Given the description of an element on the screen output the (x, y) to click on. 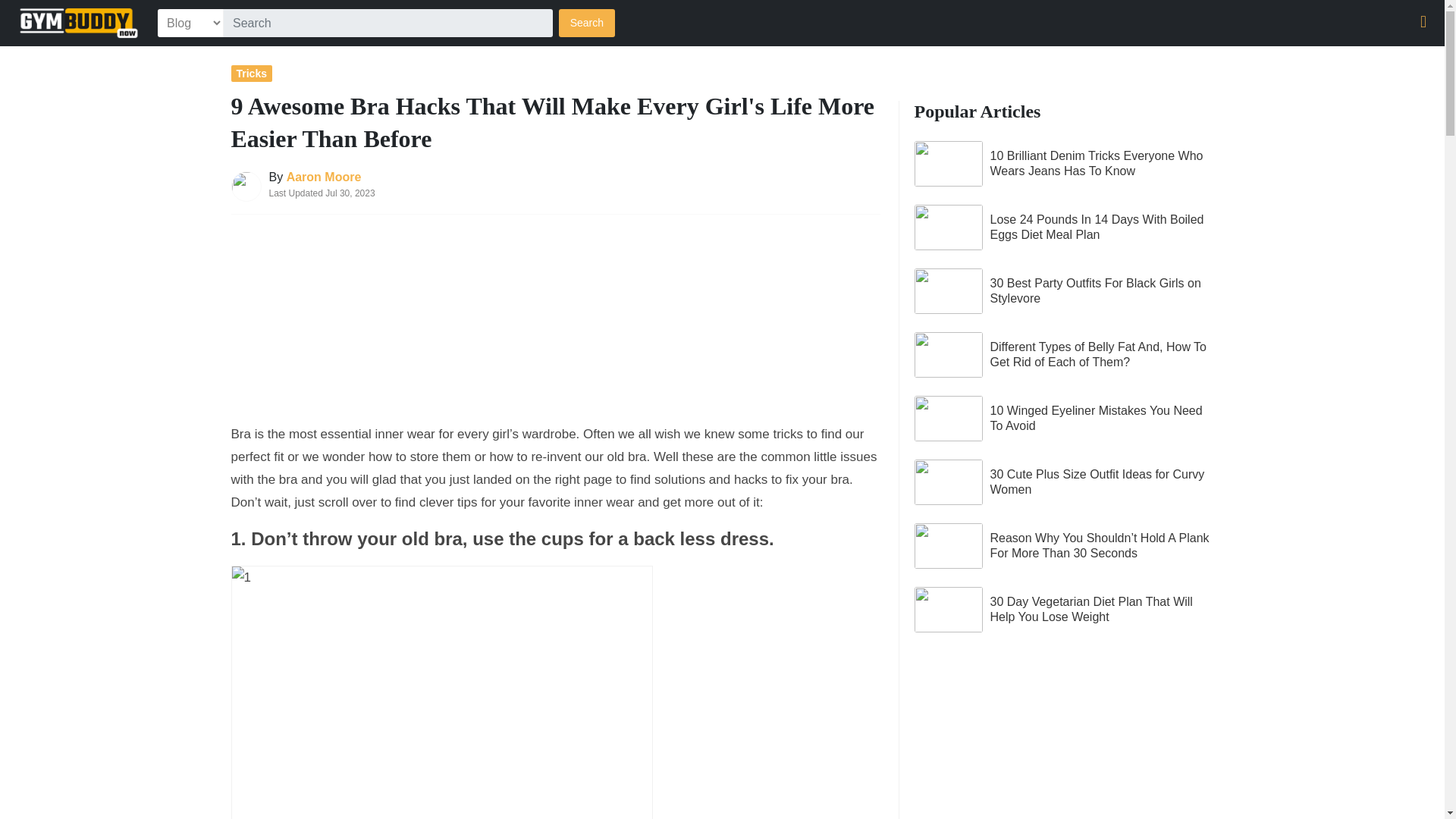
Tricks (250, 73)
30 Cute Plus Size Outfit Ideas for Curvy Women (1064, 482)
30 Day Vegetarian Diet Plan That Will Help You Lose Weight (1064, 609)
Lose 24 Pounds In 14 Days With Boiled Eggs Diet Meal Plan (1064, 227)
Aaron Moore (323, 176)
10 Winged Eyeliner Mistakes You Need To Avoid (1064, 418)
Search (586, 22)
30 Best Party Outfits For Black Girls on Stylevore (1064, 290)
